Given the description of an element on the screen output the (x, y) to click on. 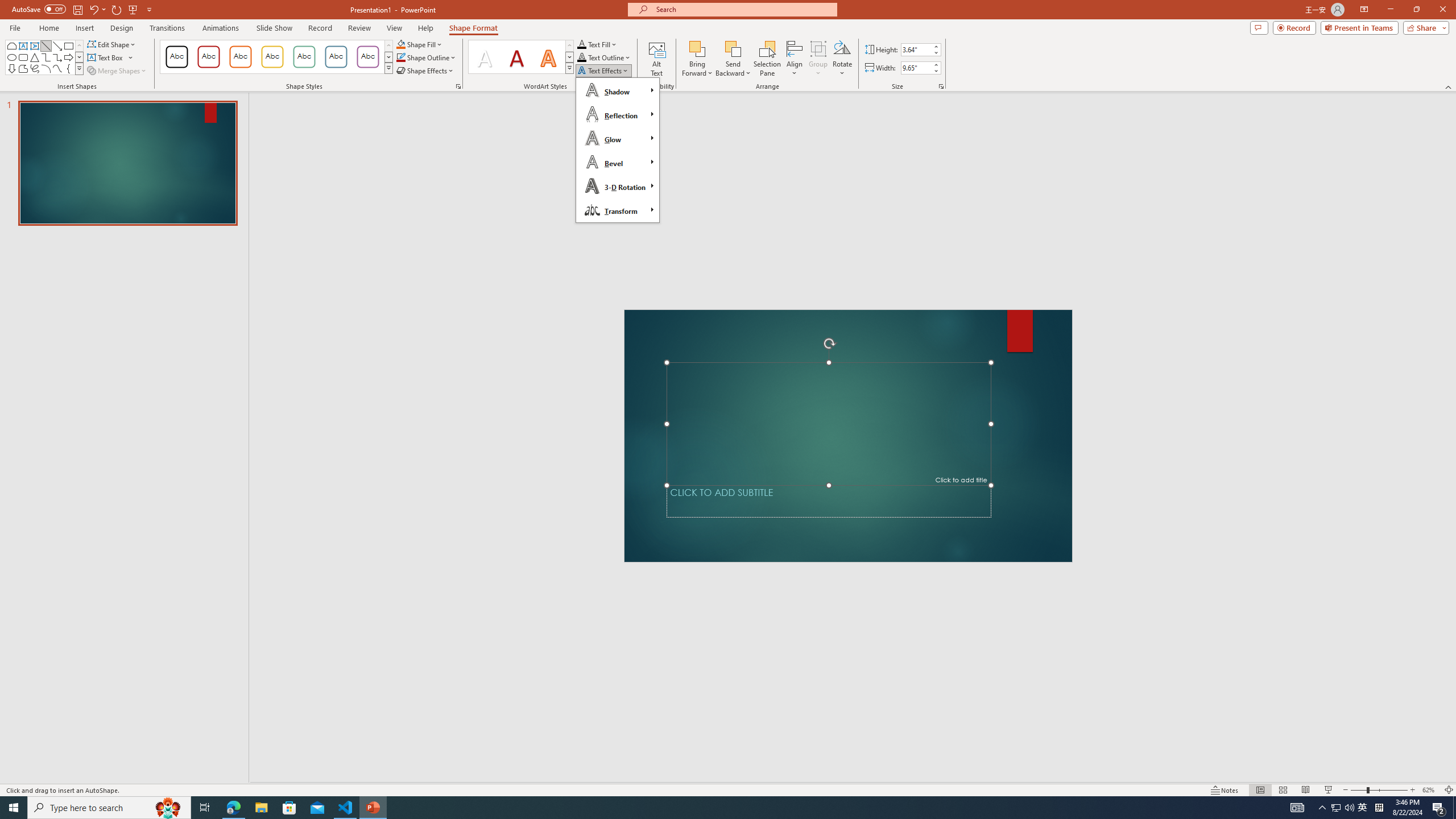
Align (794, 58)
Zoom 62% (1430, 790)
Colored Outline - Purple, Accent 6 (368, 56)
Merge Shapes (117, 69)
Fill: Dark Red, Accent color 1; Shadow (516, 56)
